Given the description of an element on the screen output the (x, y) to click on. 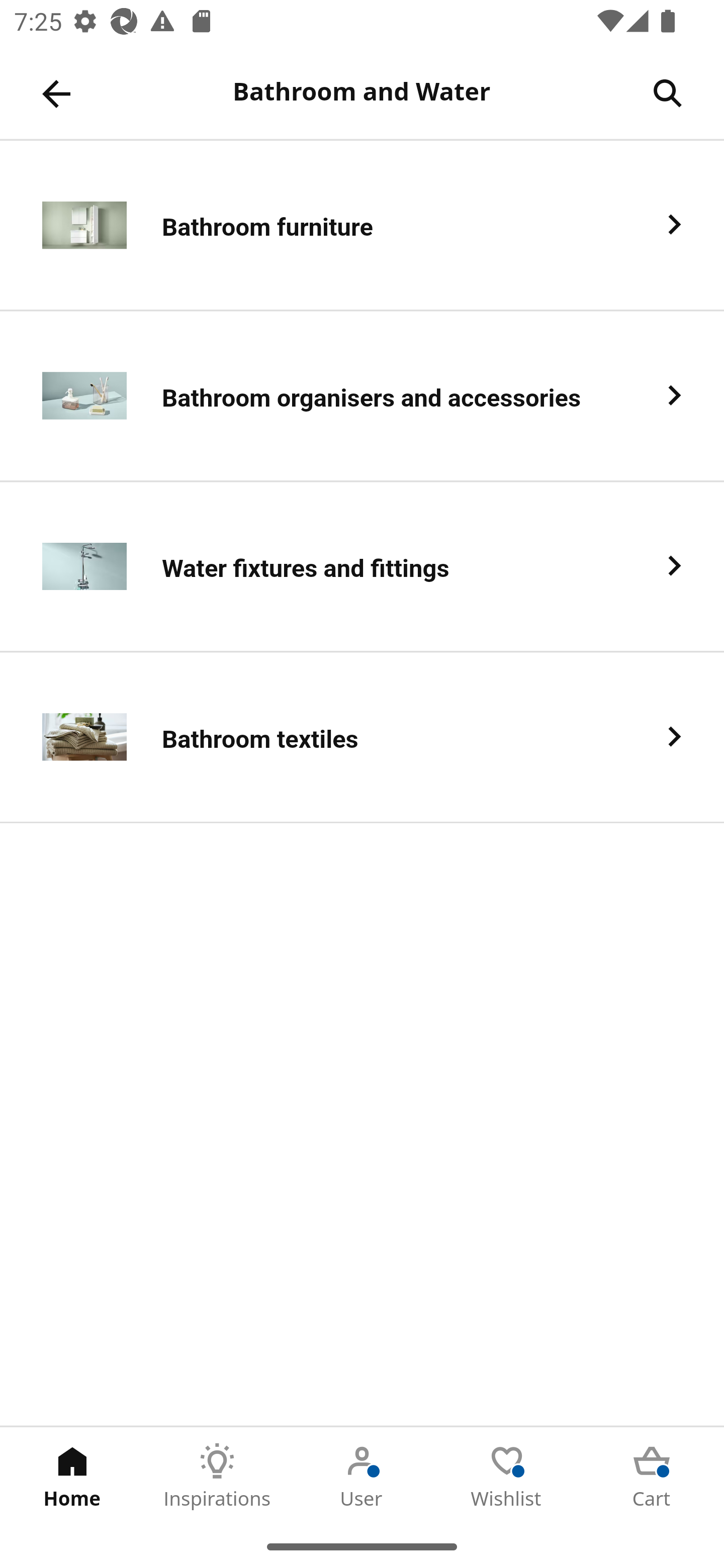
Bathroom furniture (362, 226)
Bathroom organisers and accessories (362, 396)
Water fixtures and fittings (362, 566)
Bathroom textiles (362, 737)
Home
Tab 1 of 5 (72, 1476)
Inspirations
Tab 2 of 5 (216, 1476)
User
Tab 3 of 5 (361, 1476)
Wishlist
Tab 4 of 5 (506, 1476)
Cart
Tab 5 of 5 (651, 1476)
